Given the description of an element on the screen output the (x, y) to click on. 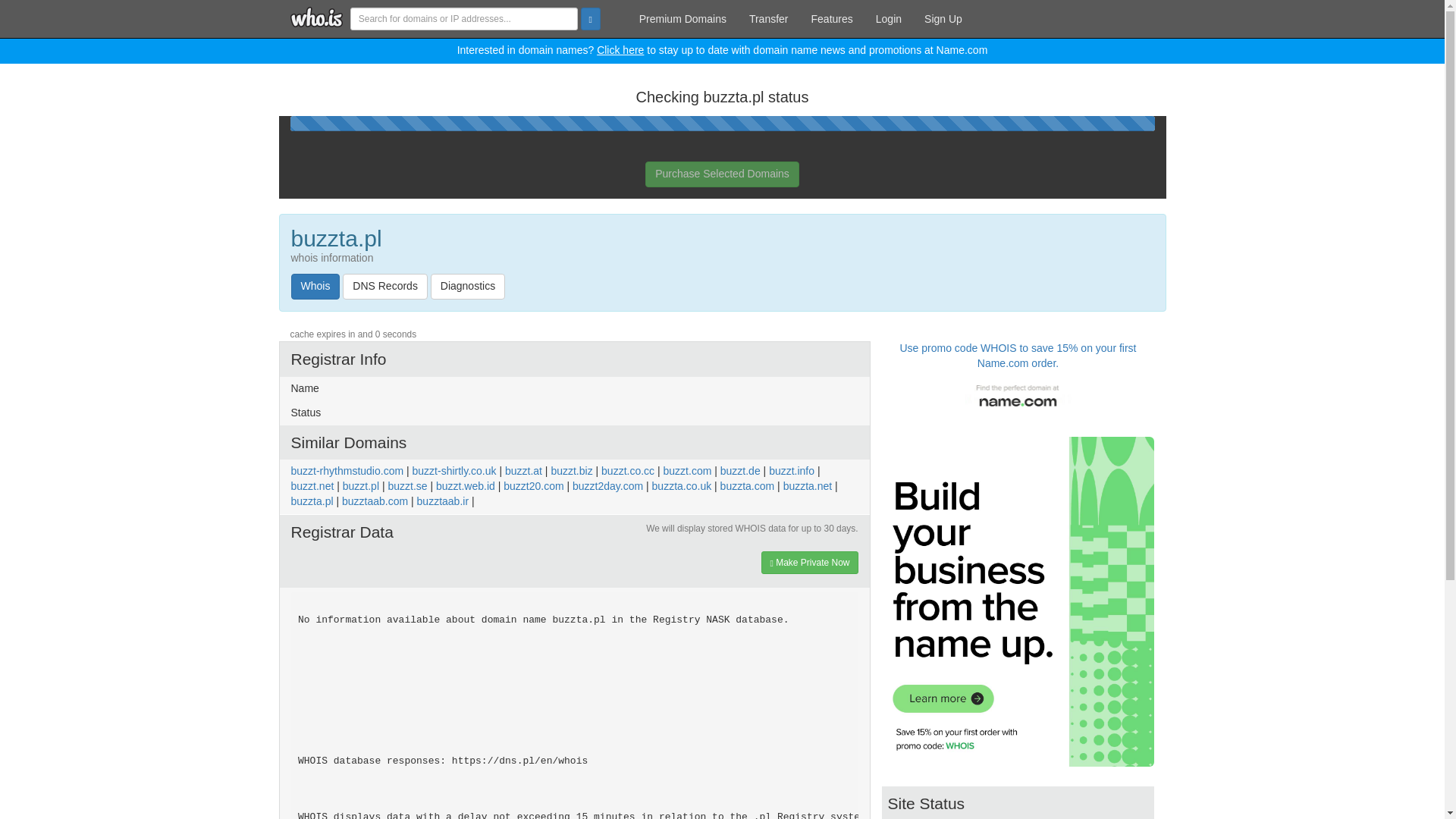
DNS Records (385, 286)
buzzt2day.com (607, 485)
buzzta.com (747, 485)
buzzta.pl (312, 500)
buzzt.web.id (465, 485)
buzzt.se (406, 485)
Premium Domains (682, 18)
buzzta.net (807, 485)
buzztaab.com (374, 500)
buzzt.biz (571, 470)
Make Private Now (809, 562)
Click here (619, 50)
Login (888, 18)
Sign Up (943, 18)
buzzt.at (523, 470)
